Given the description of an element on the screen output the (x, y) to click on. 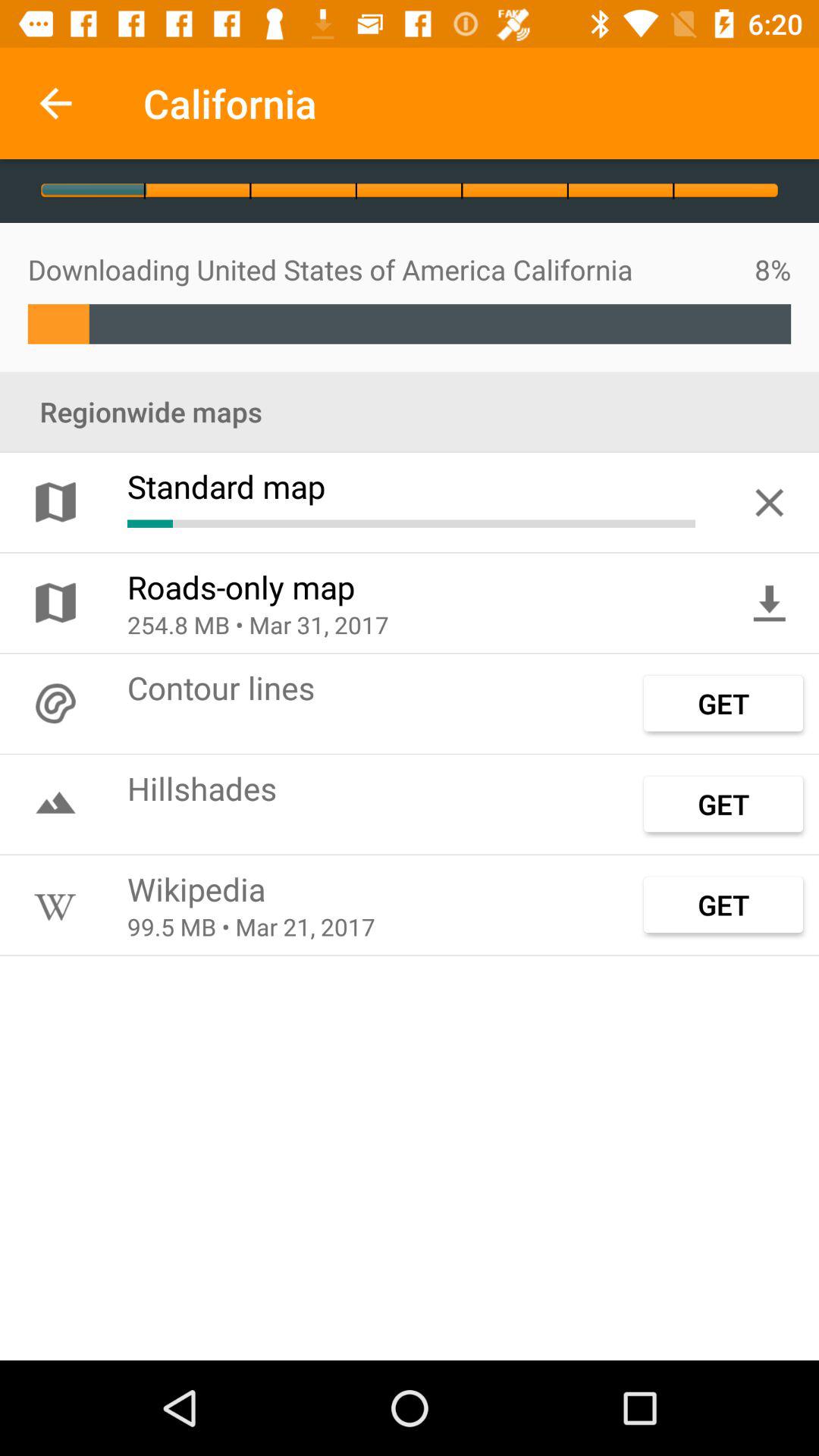
open item below regionwide maps (769, 502)
